Given the description of an element on the screen output the (x, y) to click on. 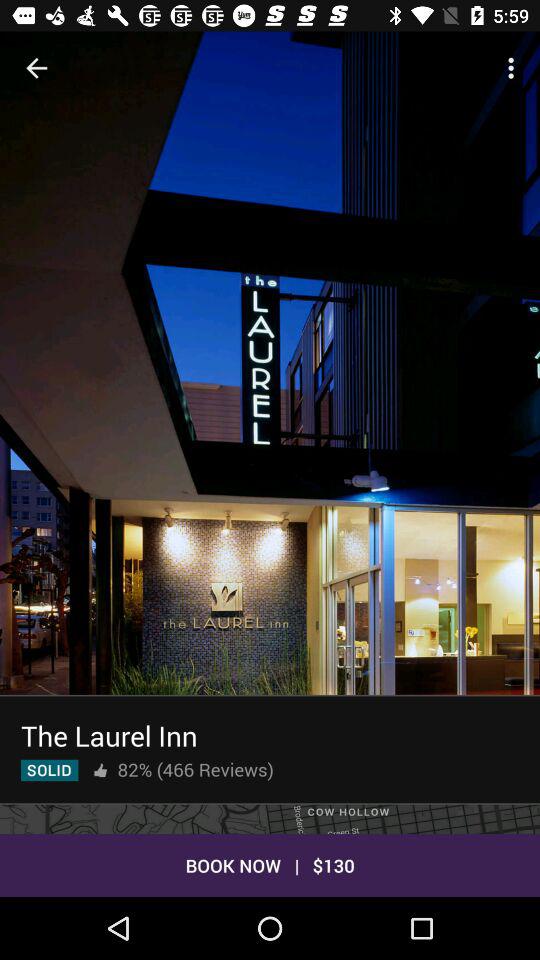
turn on the 82% (466 reviews) item (195, 769)
